Given the description of an element on the screen output the (x, y) to click on. 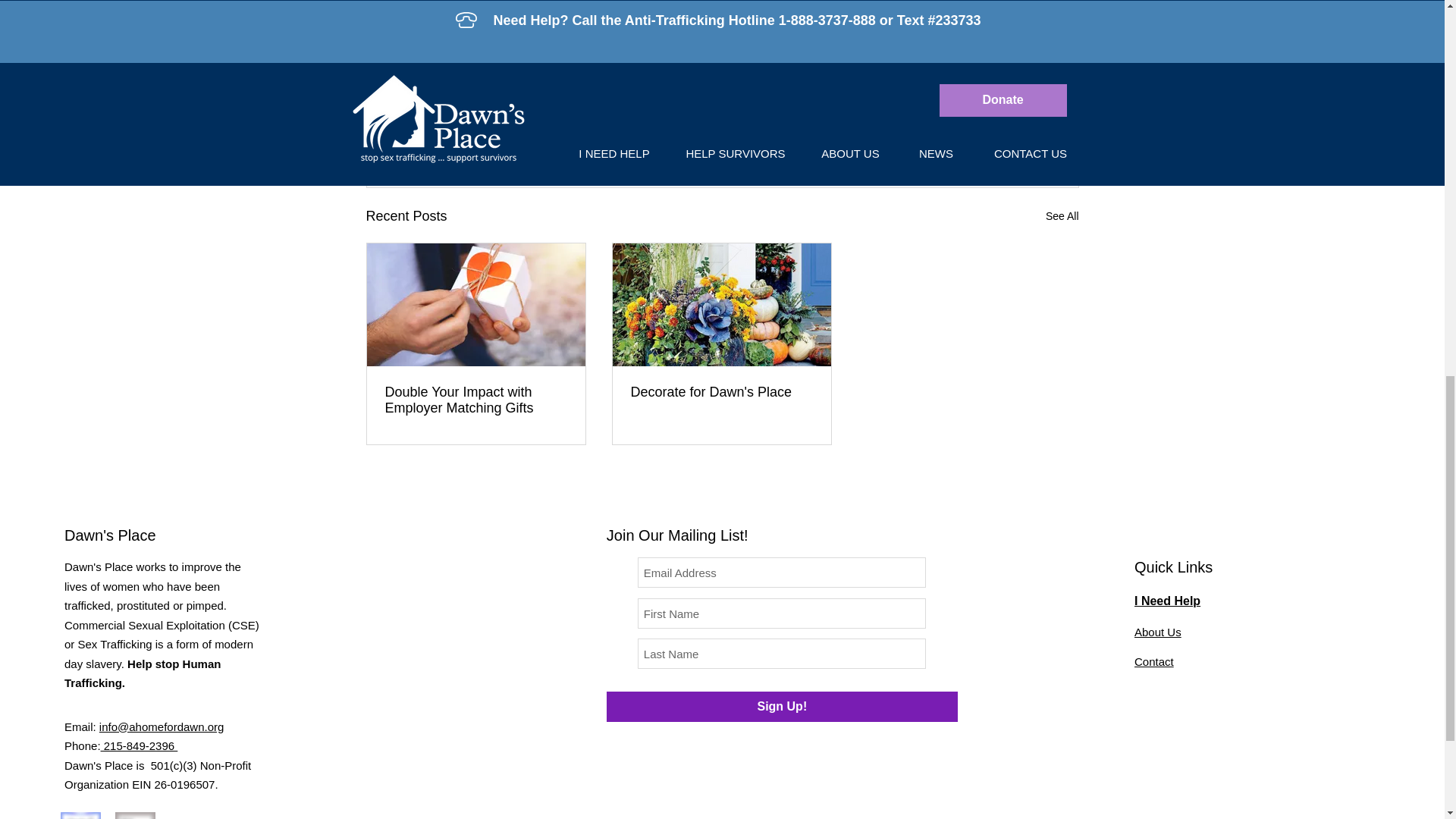
candid-seal-silver-2023.png (135, 815)
Decorate for Dawn's Place (721, 392)
See All (1061, 216)
Four-Star Rating Badge - Full Color.png (80, 815)
Double Your Impact with Employer Matching Gifts (476, 400)
